Given the description of an element on the screen output the (x, y) to click on. 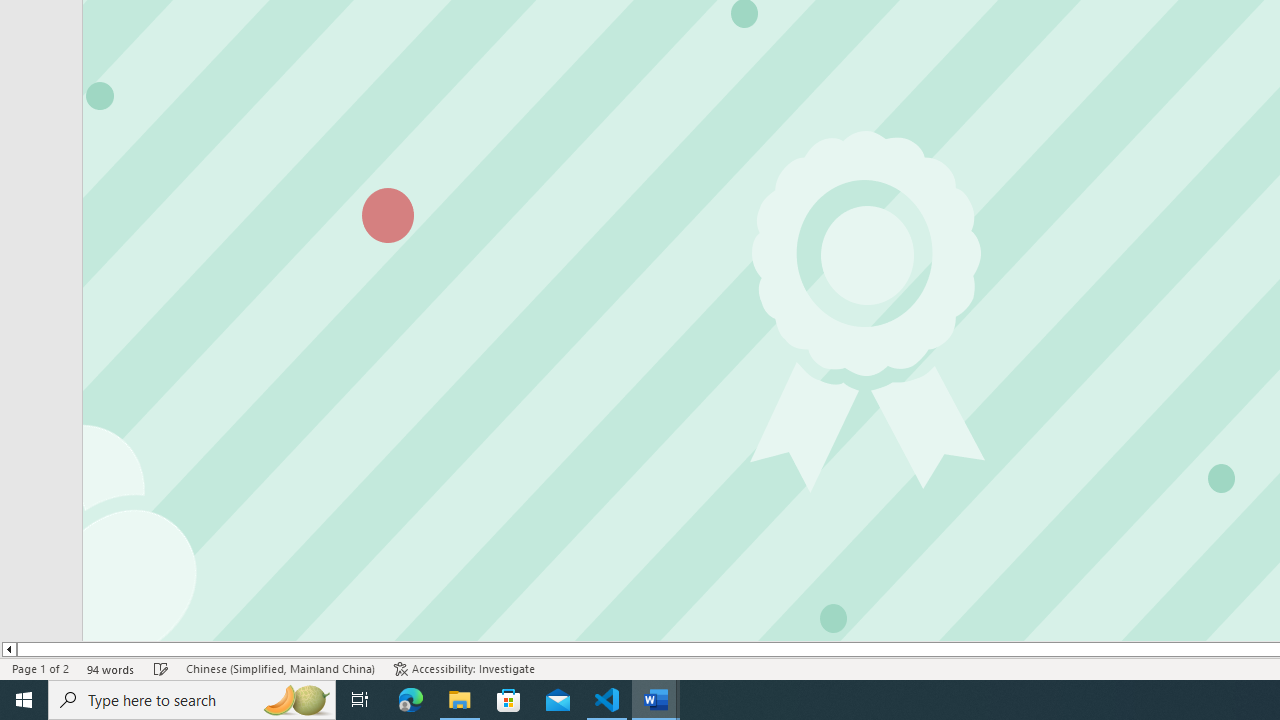
Accessibility Checker Accessibility: Investigate (464, 668)
Language Chinese (Simplified, Mainland China) (279, 668)
Column left (8, 649)
Spelling and Grammar Check Checking (161, 668)
Word Count 94 words (111, 668)
Page Number Page 1 of 2 (39, 668)
